Given the description of an element on the screen output the (x, y) to click on. 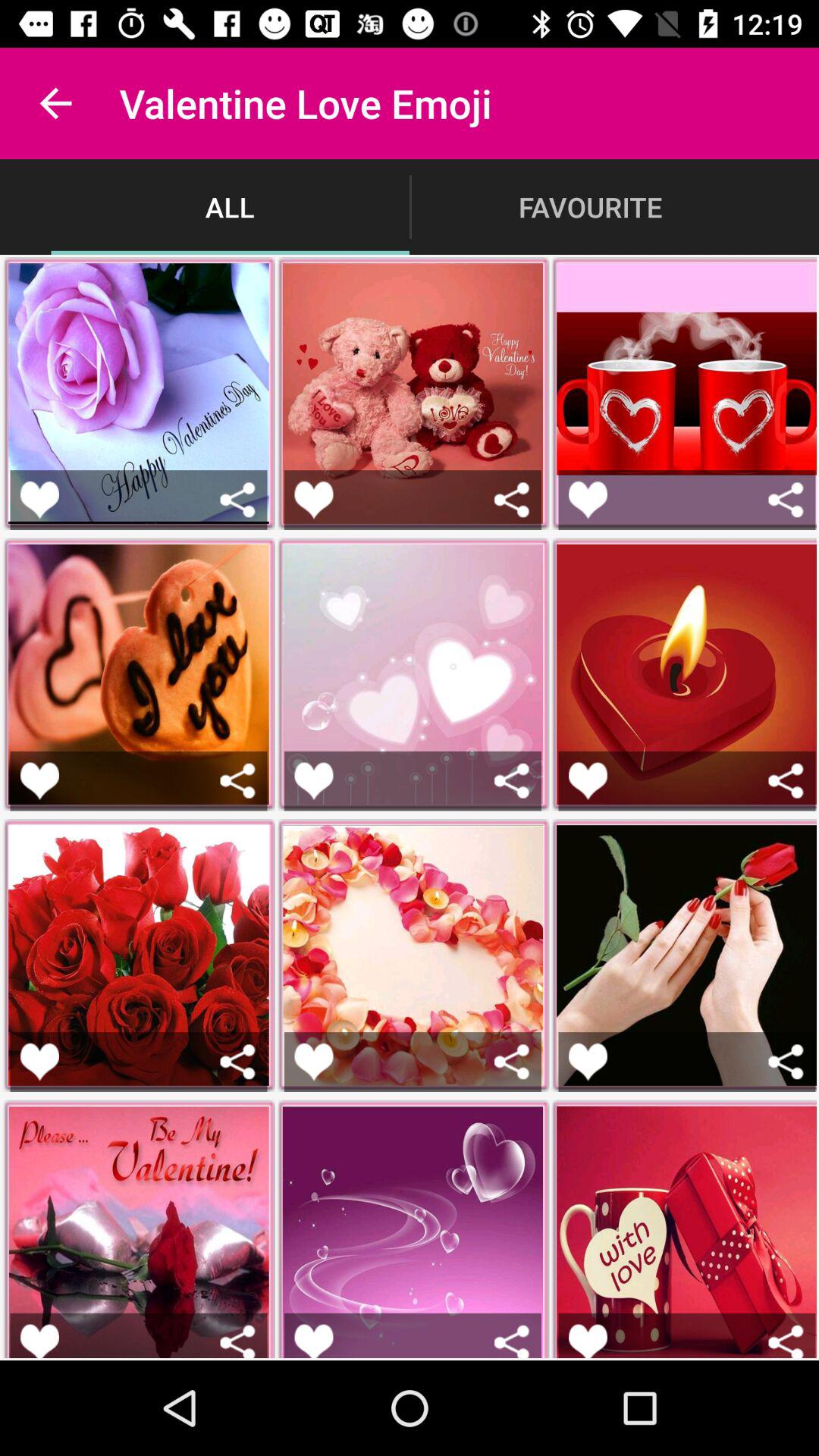
like picture (313, 1061)
